Given the description of an element on the screen output the (x, y) to click on. 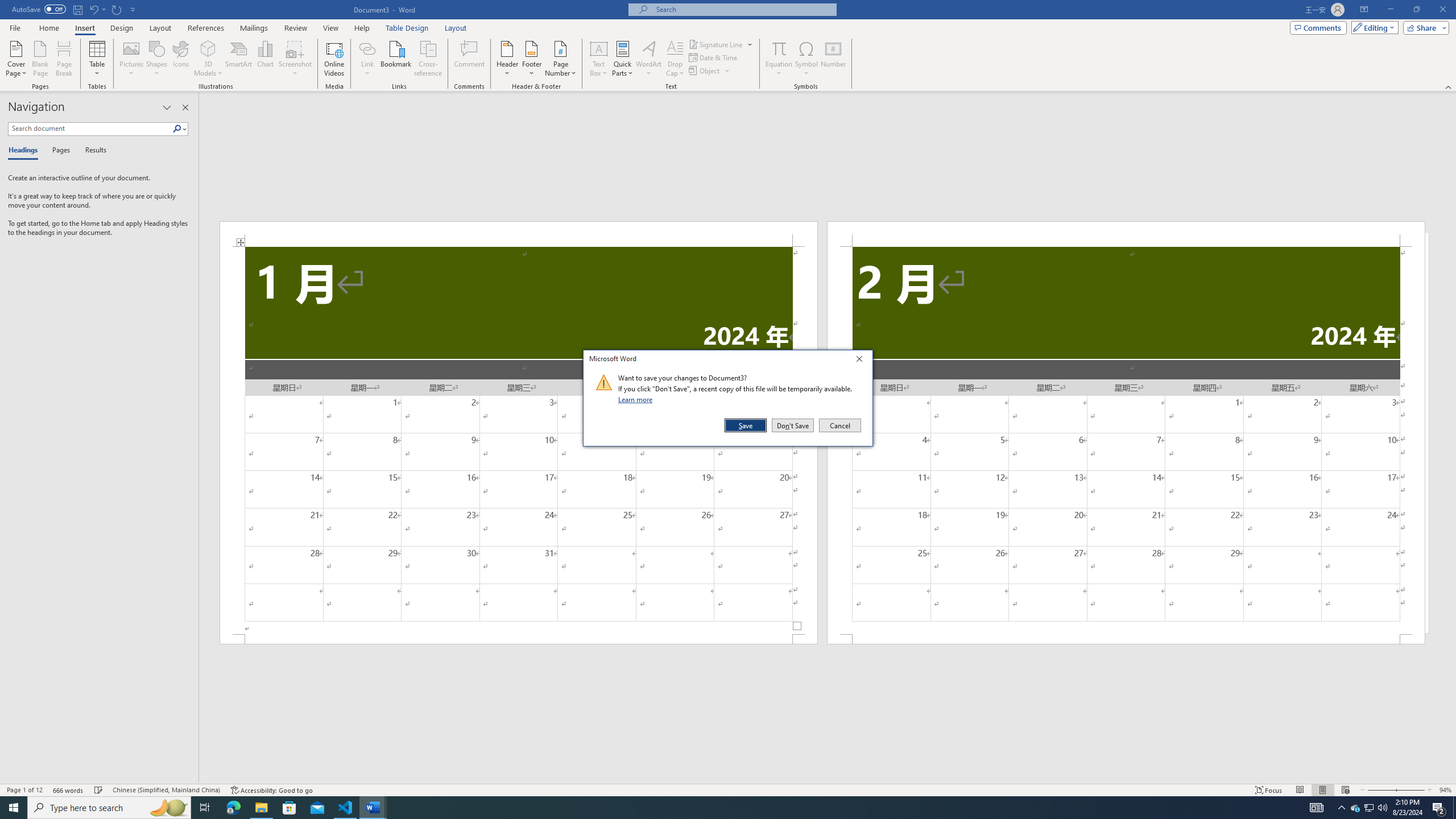
Cross-reference... (428, 58)
Microsoft Edge (233, 807)
Link (367, 58)
Cancel (839, 425)
Drop Cap (674, 58)
Pictures (131, 58)
